Given the description of an element on the screen output the (x, y) to click on. 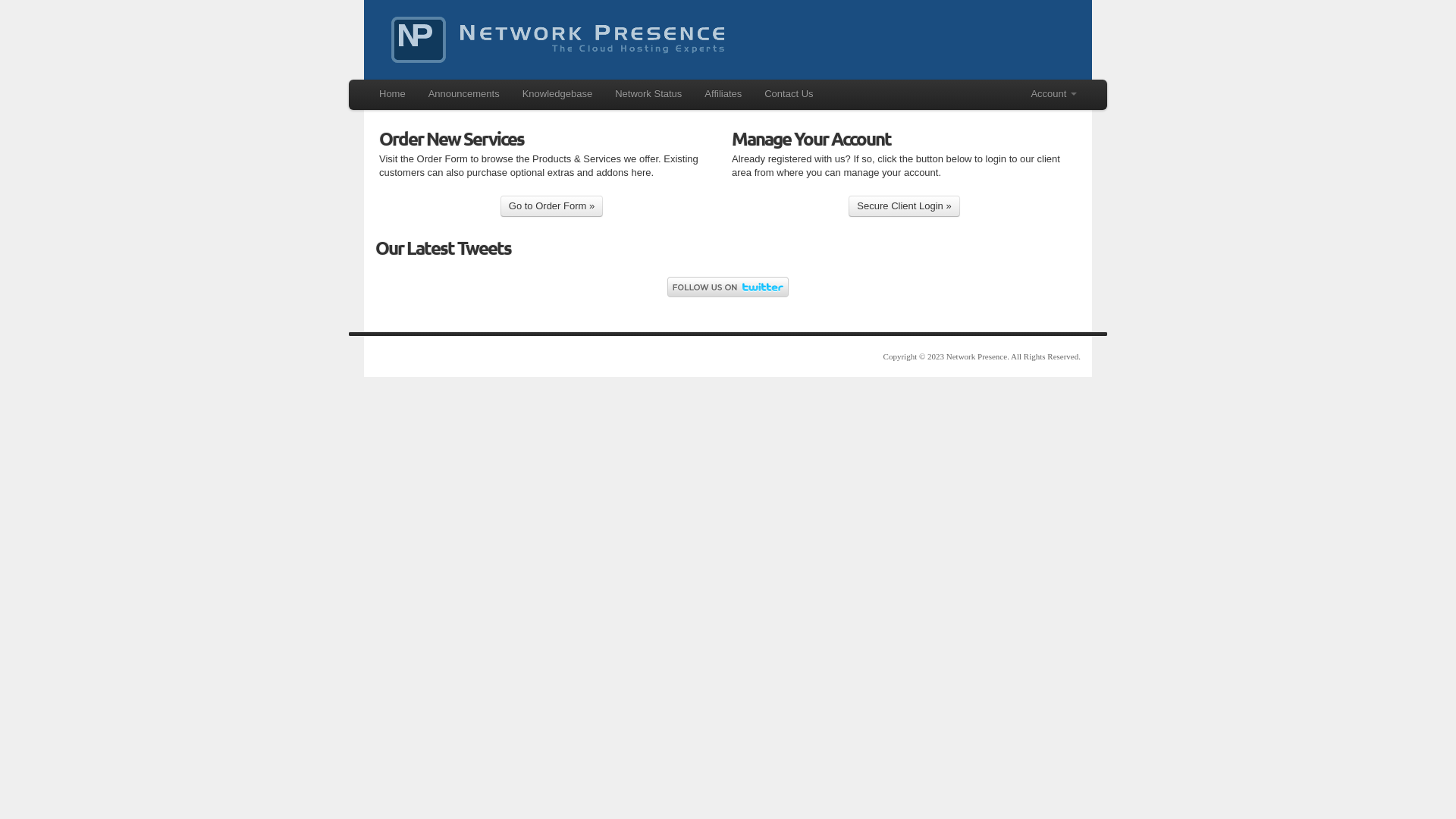
Announcements Element type: text (463, 94)
Knowledgebase Element type: text (557, 94)
Network Status Element type: text (648, 94)
Account  Element type: text (1053, 94)
Home Element type: text (392, 94)
Affiliates Element type: text (722, 94)
Contact Us Element type: text (788, 94)
